Given the description of an element on the screen output the (x, y) to click on. 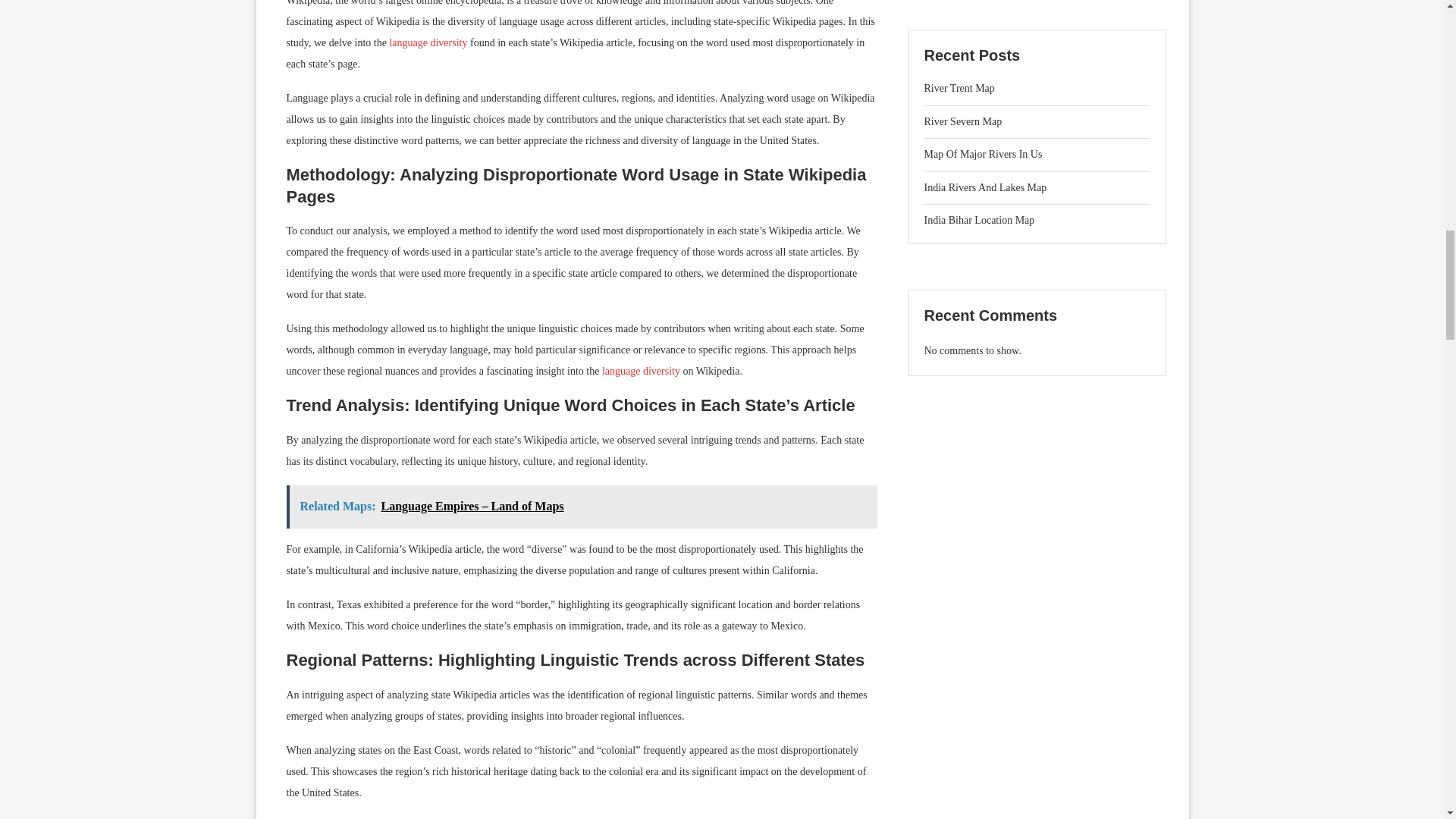
language diversity (427, 42)
language diversity (640, 370)
